Given the description of an element on the screen output the (x, y) to click on. 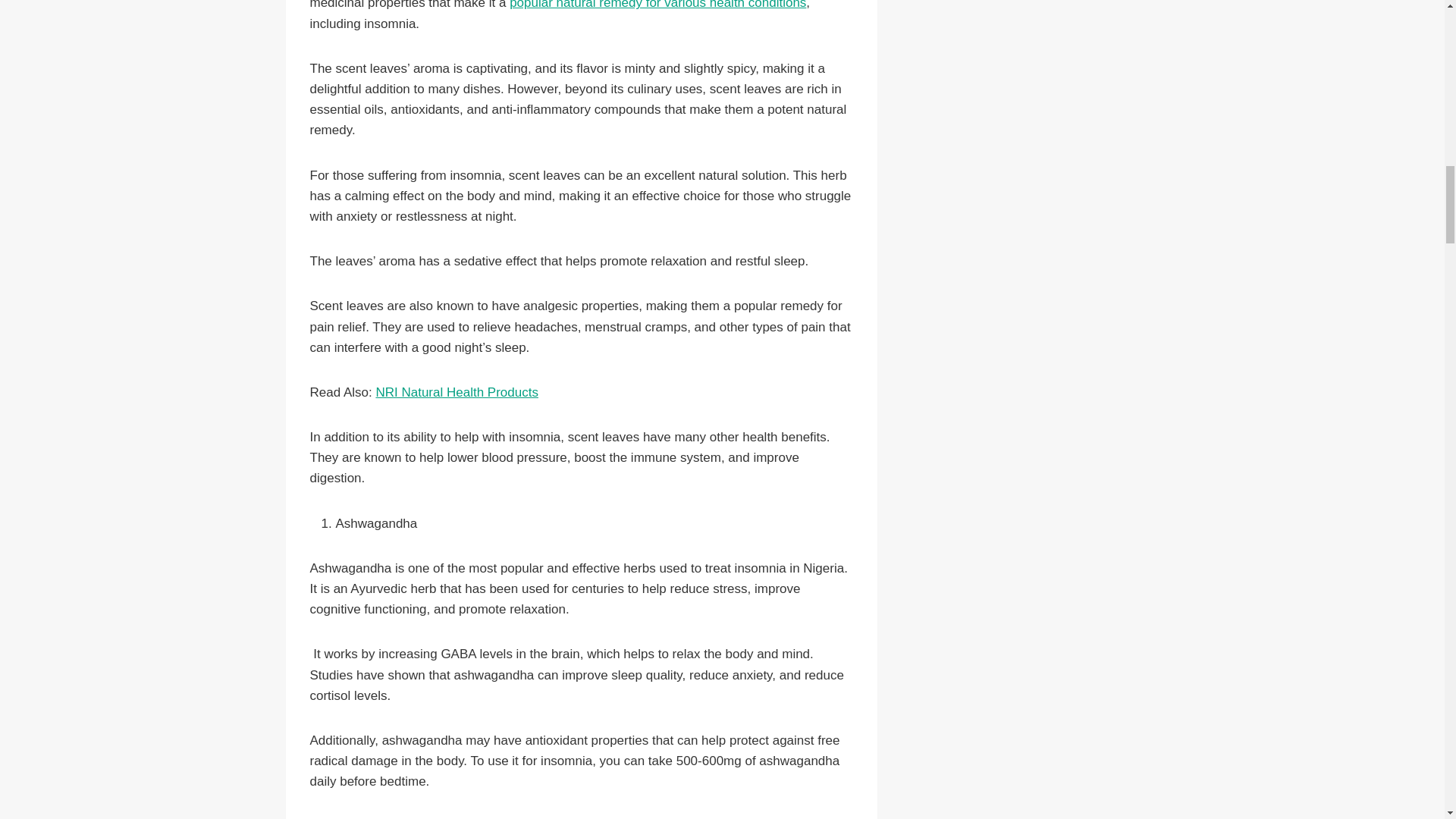
popular natural remedy for various health conditions (657, 4)
NRI Natural Health Products (456, 391)
